Given the description of an element on the screen output the (x, y) to click on. 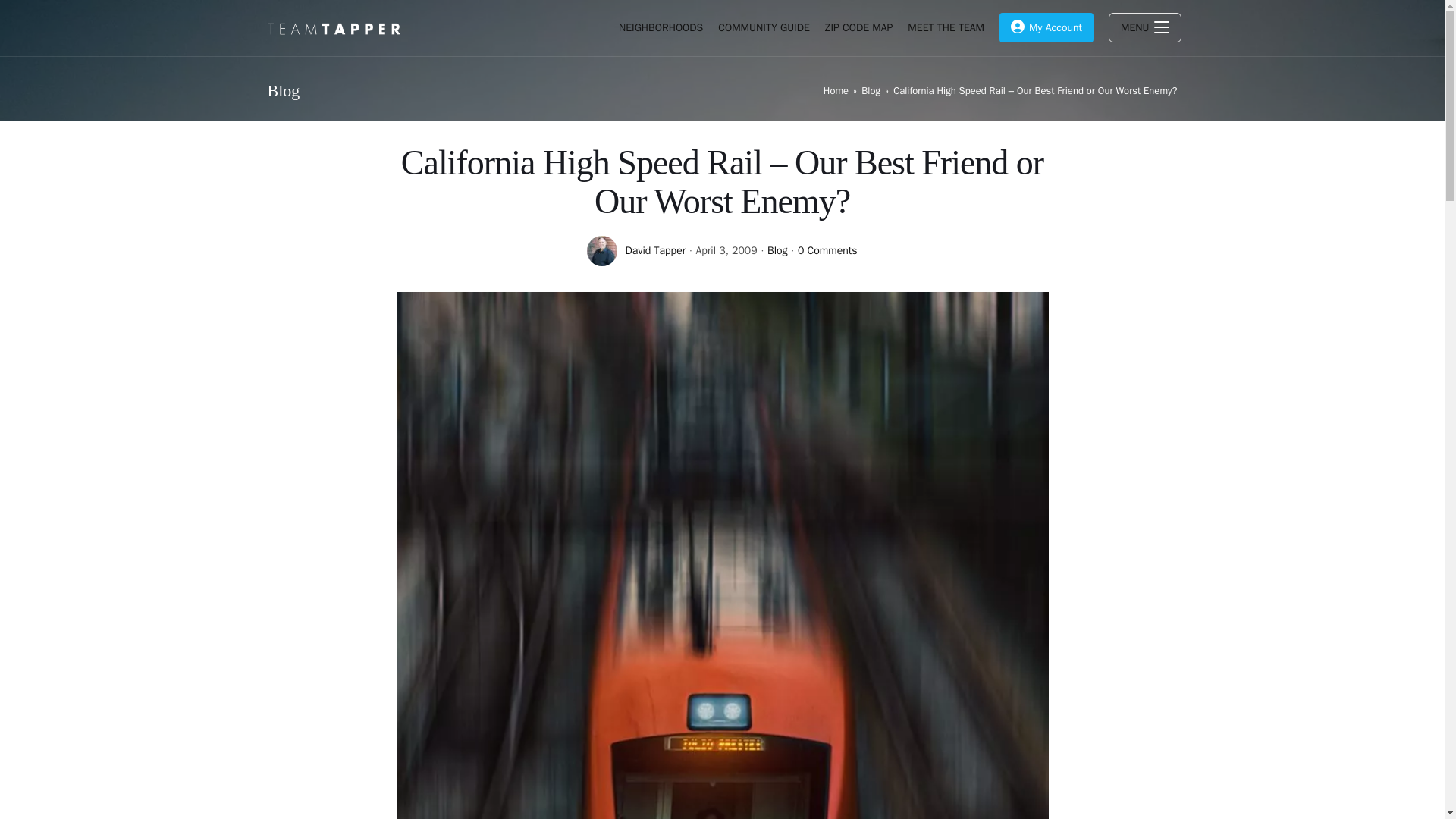
David Tapper (654, 250)
0 Comments (827, 250)
ZIP CODE MAP (858, 28)
MENU (1144, 28)
COMMUNITY GUIDE (763, 28)
Home (836, 90)
NEIGHBORHOODS (660, 28)
Blog (777, 250)
MEET THE TEAM (945, 28)
Blog (870, 90)
My Account (1045, 28)
Posts by David Tapper (654, 250)
